Given the description of an element on the screen output the (x, y) to click on. 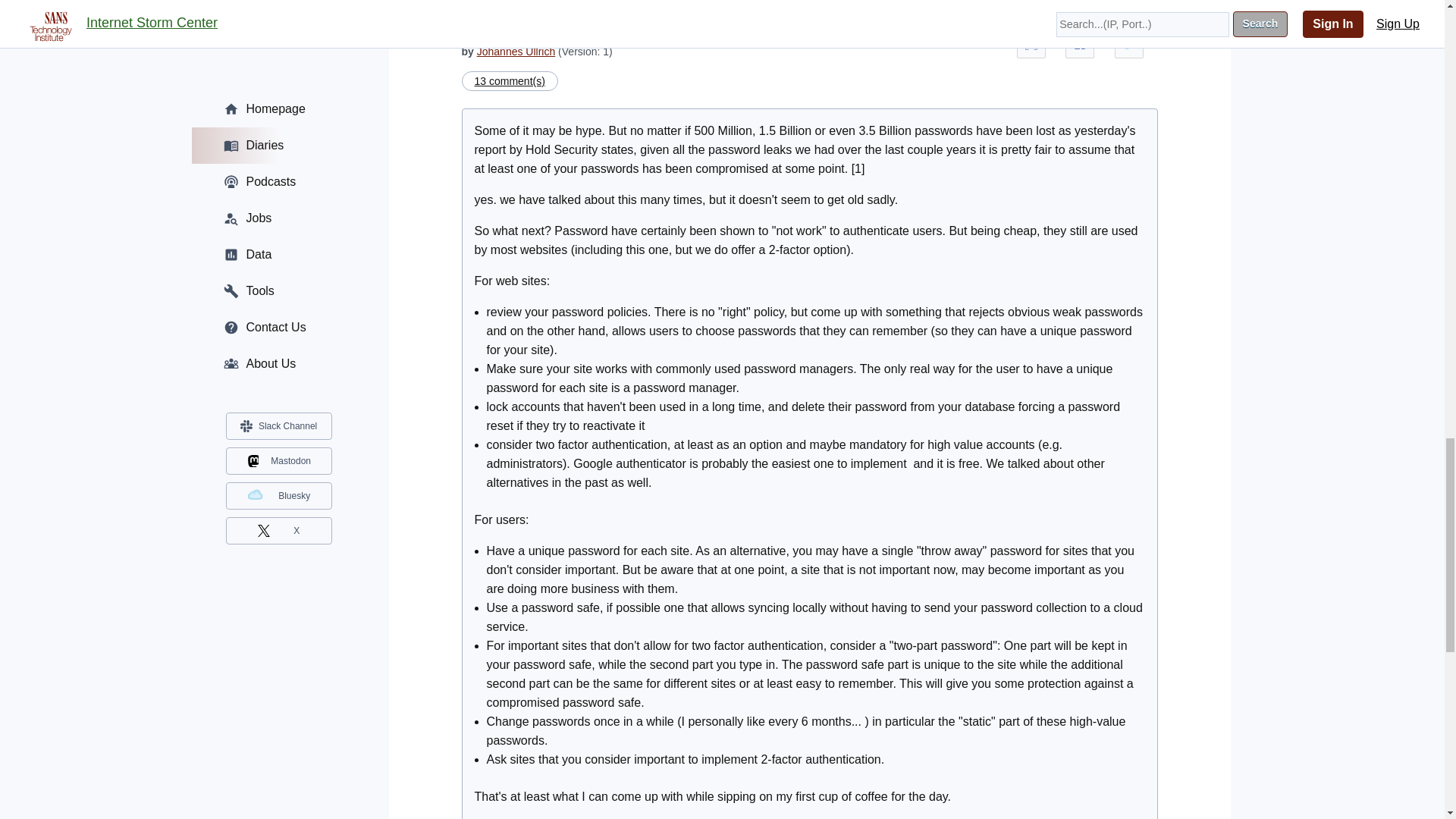
Share on Facebook (1079, 43)
Johannes Ullrich (516, 51)
Full Screen (1030, 43)
Share on Twitter (1128, 43)
